Given the description of an element on the screen output the (x, y) to click on. 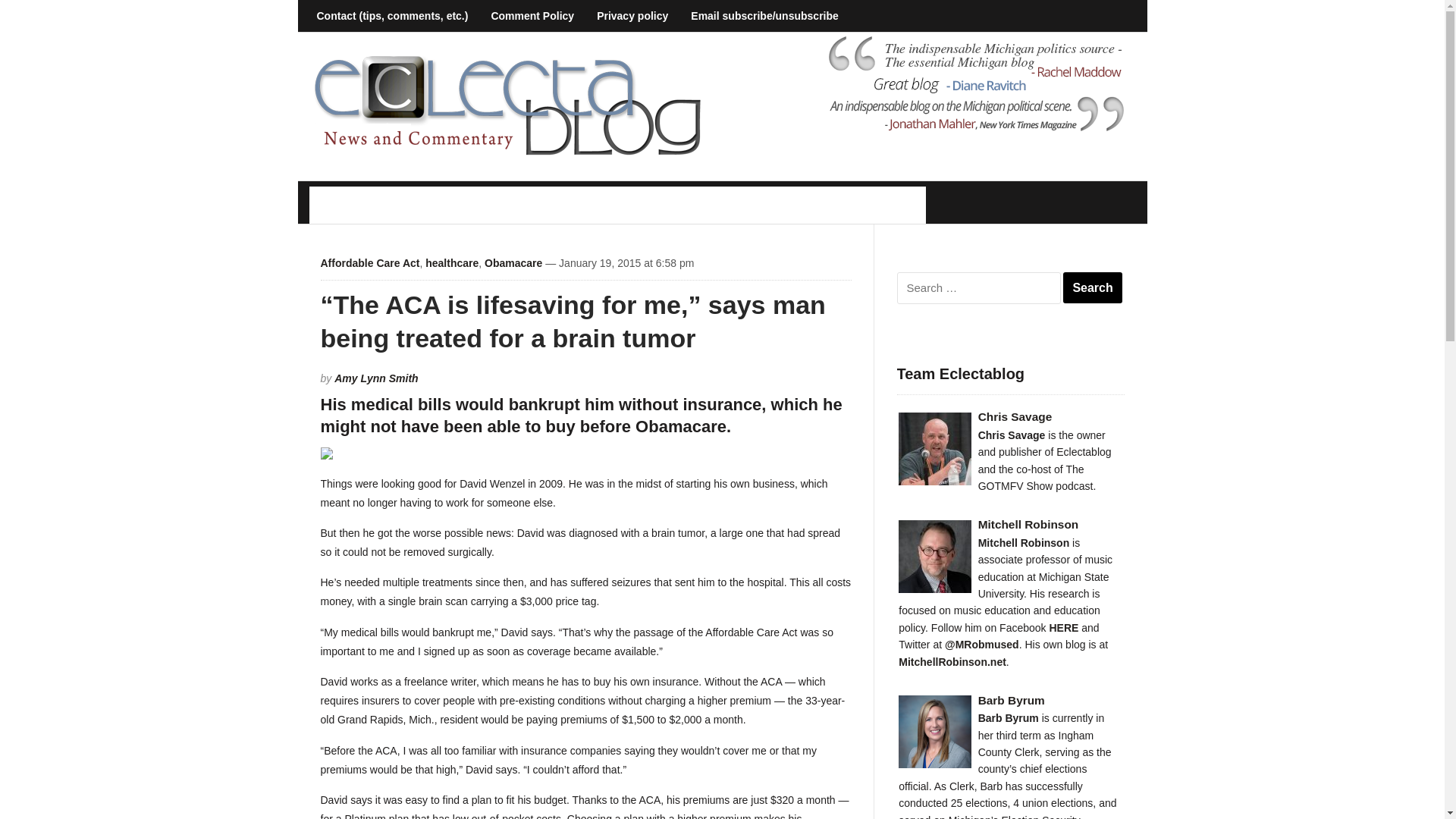
Privacy policy (632, 15)
Search for: (977, 287)
Comment Policy (532, 15)
Search (1091, 287)
Obamacare (512, 263)
Chris Savage (1009, 416)
Search (1091, 287)
Betsy DeVos (361, 204)
Posts by Amy Lynn Smith (375, 378)
Search (1091, 287)
Barb Byrum (1009, 700)
Emergency Managers (495, 204)
Flint Water Crisis (644, 204)
Political News and Commentary (506, 105)
Amy Lynn Smith (375, 378)
